Given the description of an element on the screen output the (x, y) to click on. 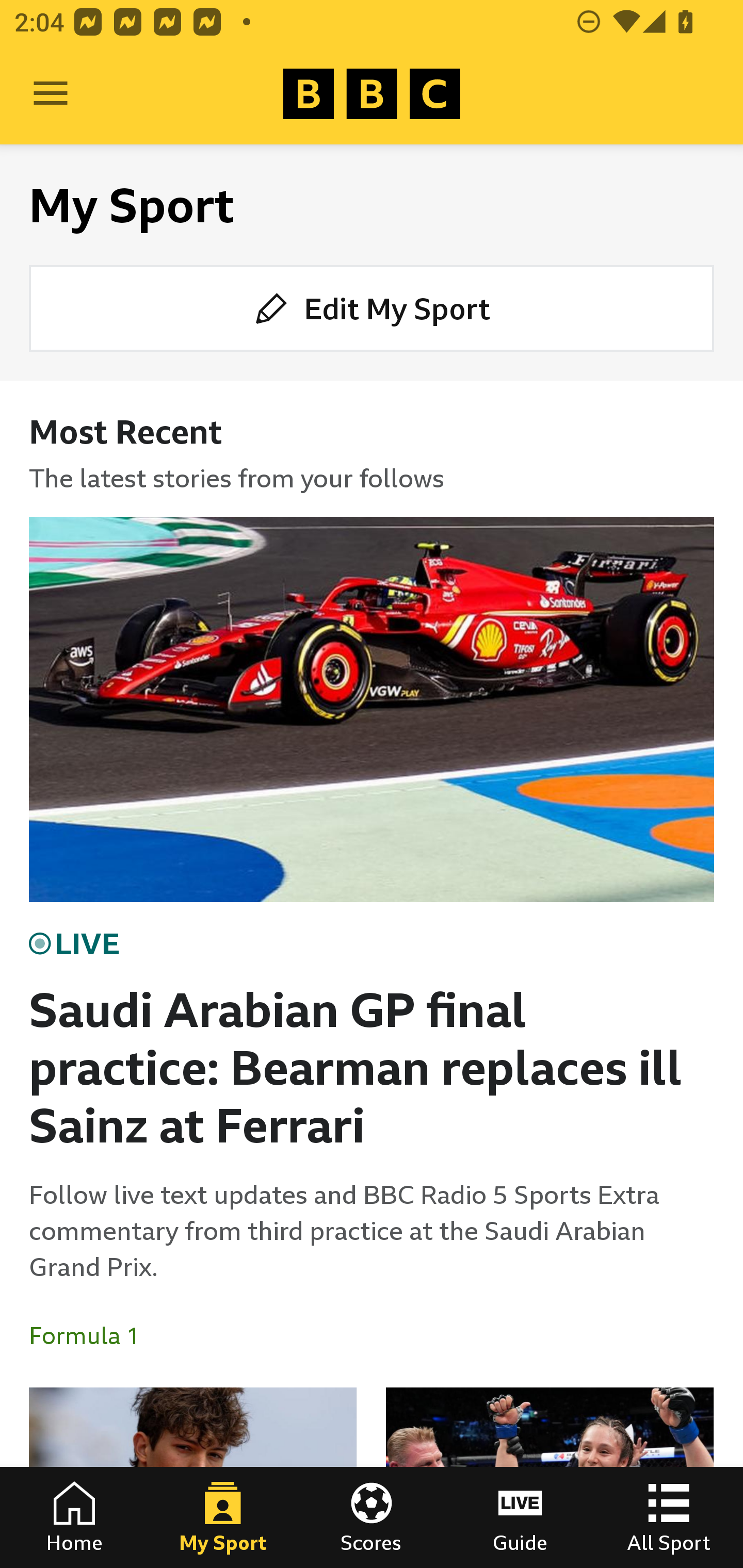
Open Menu (50, 93)
Edit My Sport (371, 307)
Home (74, 1517)
Scores (371, 1517)
Guide (519, 1517)
All Sport (668, 1517)
